Given the description of an element on the screen output the (x, y) to click on. 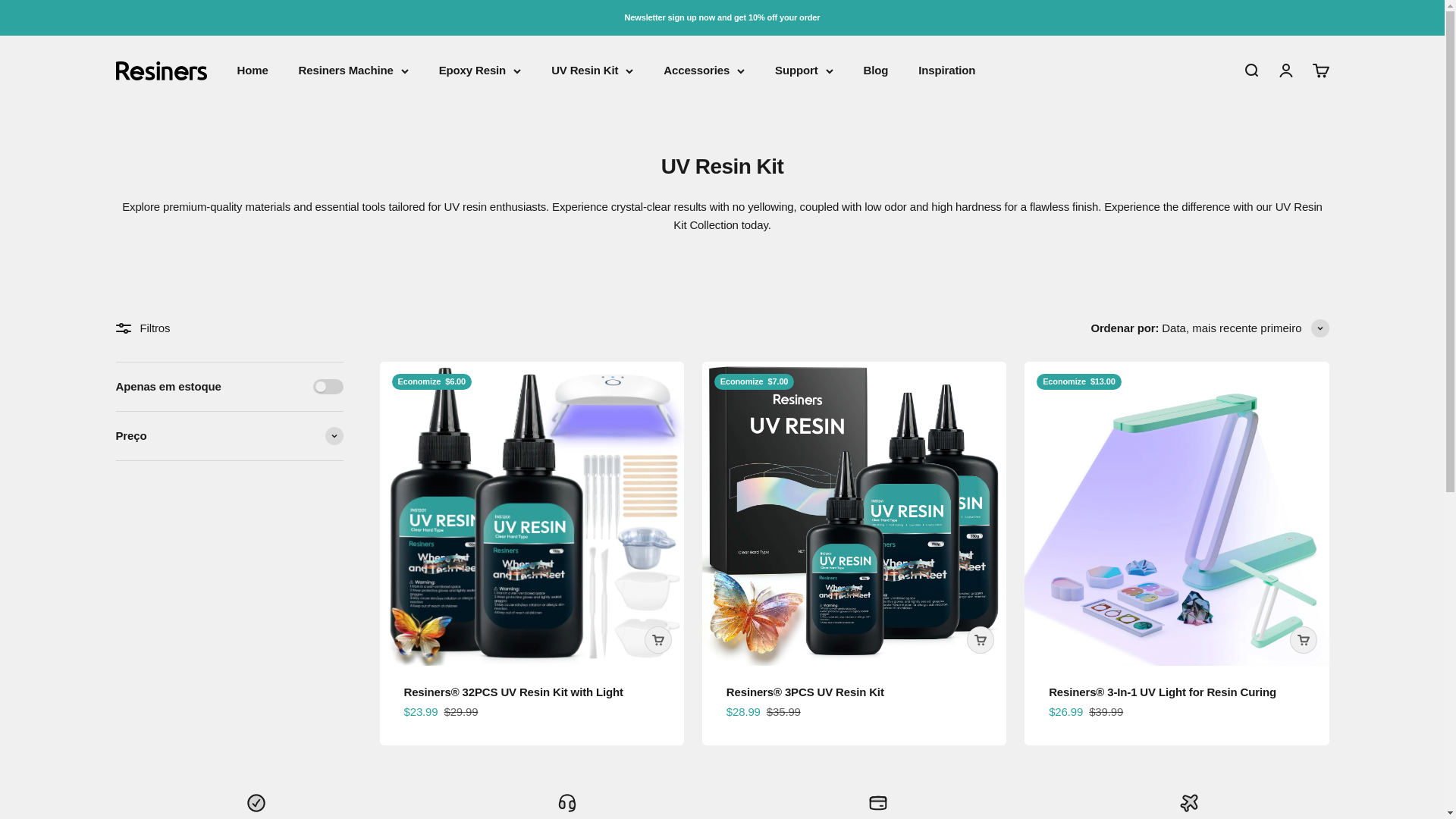
RESINERS (160, 70)
Inspiration (1319, 70)
1 (946, 69)
Home (327, 386)
Abrir pesquisa (251, 69)
Blog (1250, 70)
